Given the description of an element on the screen output the (x, y) to click on. 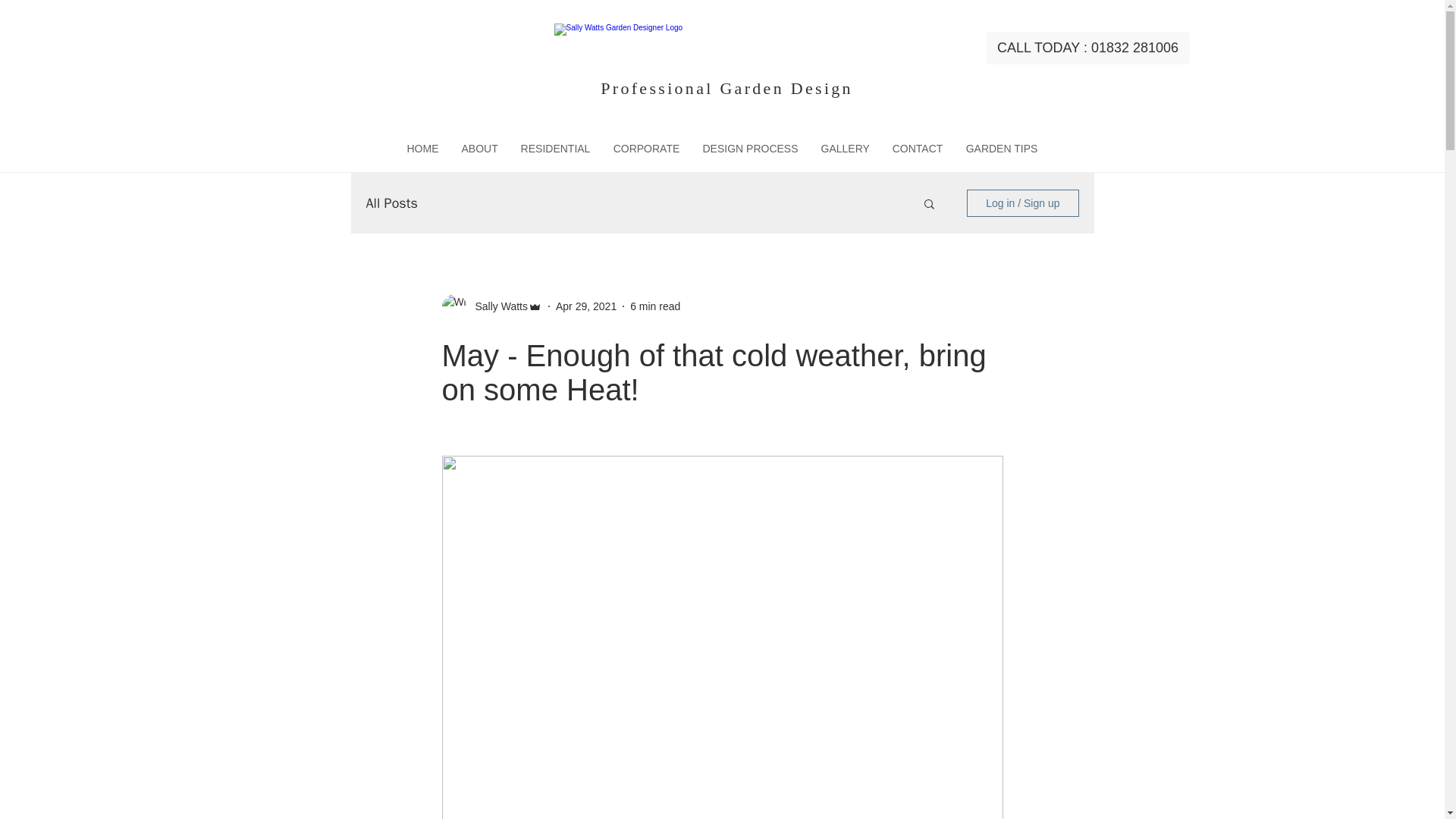
ABOUT (479, 148)
Apr 29, 2021 (585, 306)
HOME (422, 148)
DESIGN PROCESS (750, 148)
GARDEN TIPS (1000, 148)
RESIDENTIAL (555, 148)
CONTACT (917, 148)
All Posts (390, 203)
GALLERY (844, 148)
CORPORATE (646, 148)
CALL TODAY : 01832 281006 (1087, 47)
6 min read (654, 306)
Sally Watts (496, 306)
